Given the description of an element on the screen output the (x, y) to click on. 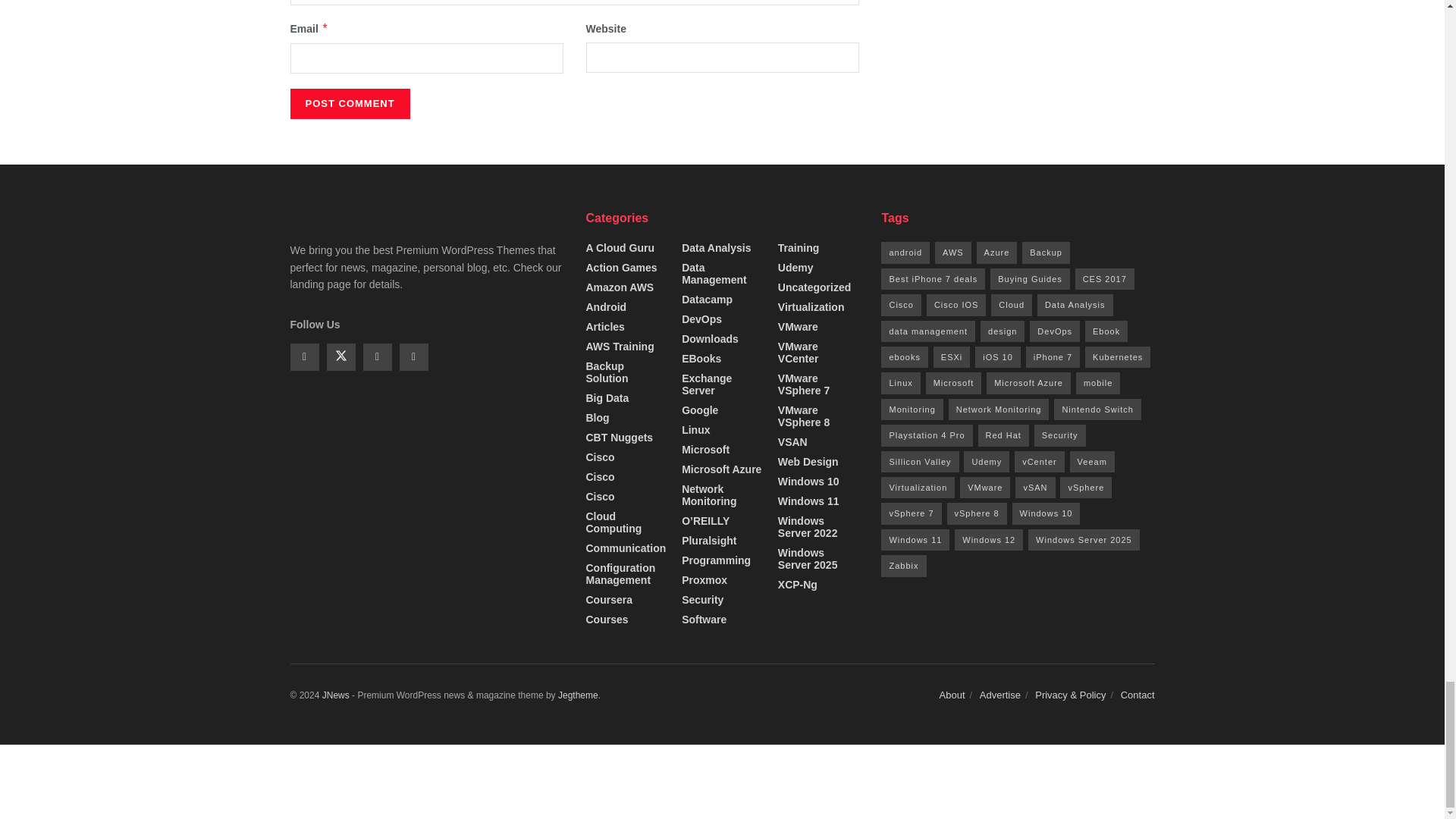
Post Comment (349, 103)
Jegtheme (577, 695)
